Given the description of an element on the screen output the (x, y) to click on. 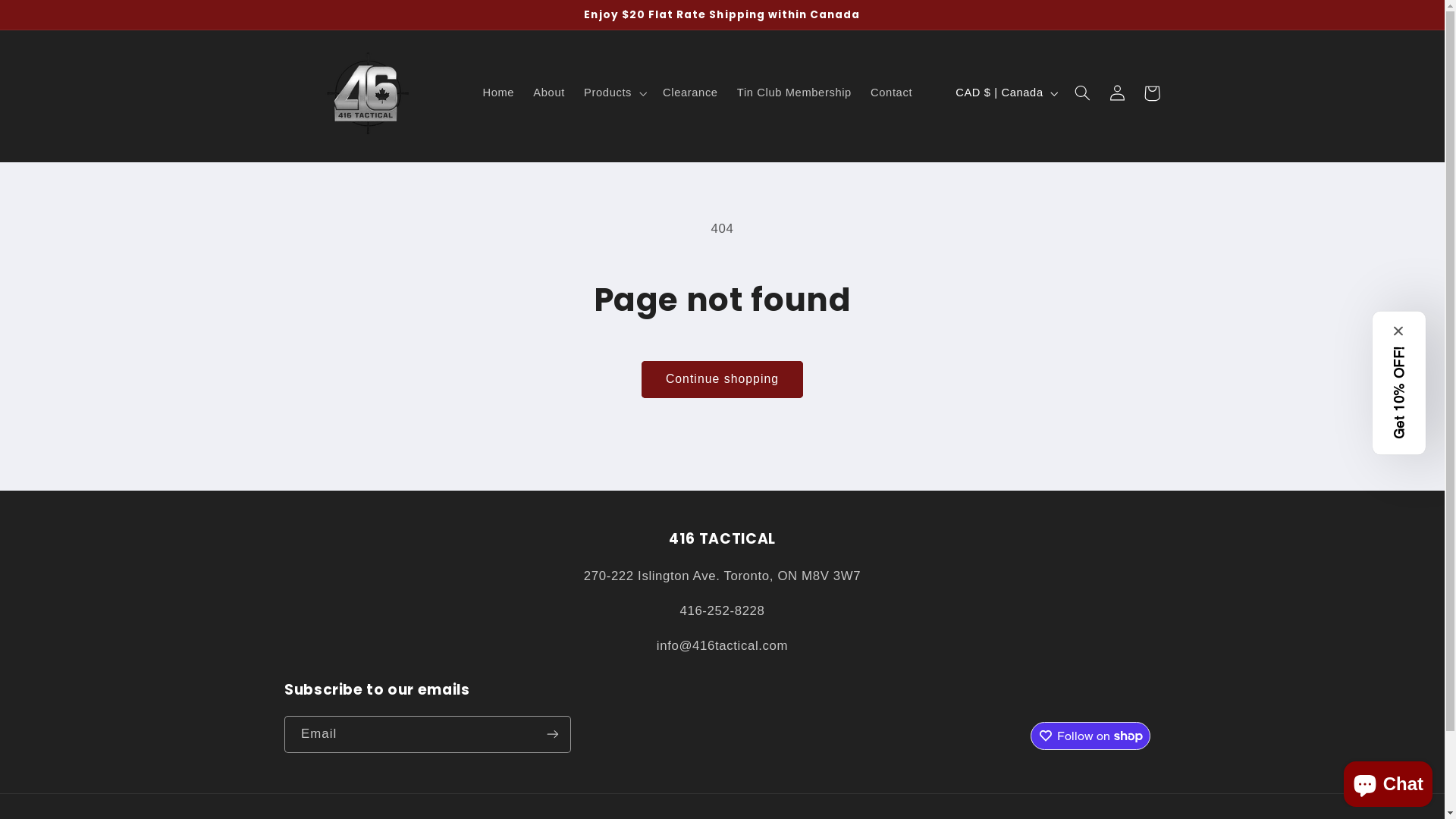
Contact Element type: text (890, 92)
Shopify online store chat Element type: hover (1388, 780)
Log in Element type: text (1116, 92)
Tin Club Membership Element type: text (793, 92)
Home Element type: text (498, 92)
About Element type: text (549, 92)
CAD $ | Canada Element type: text (1005, 92)
Continue shopping Element type: text (721, 379)
Cart Element type: text (1151, 92)
Clearance Element type: text (689, 92)
